Given the description of an element on the screen output the (x, y) to click on. 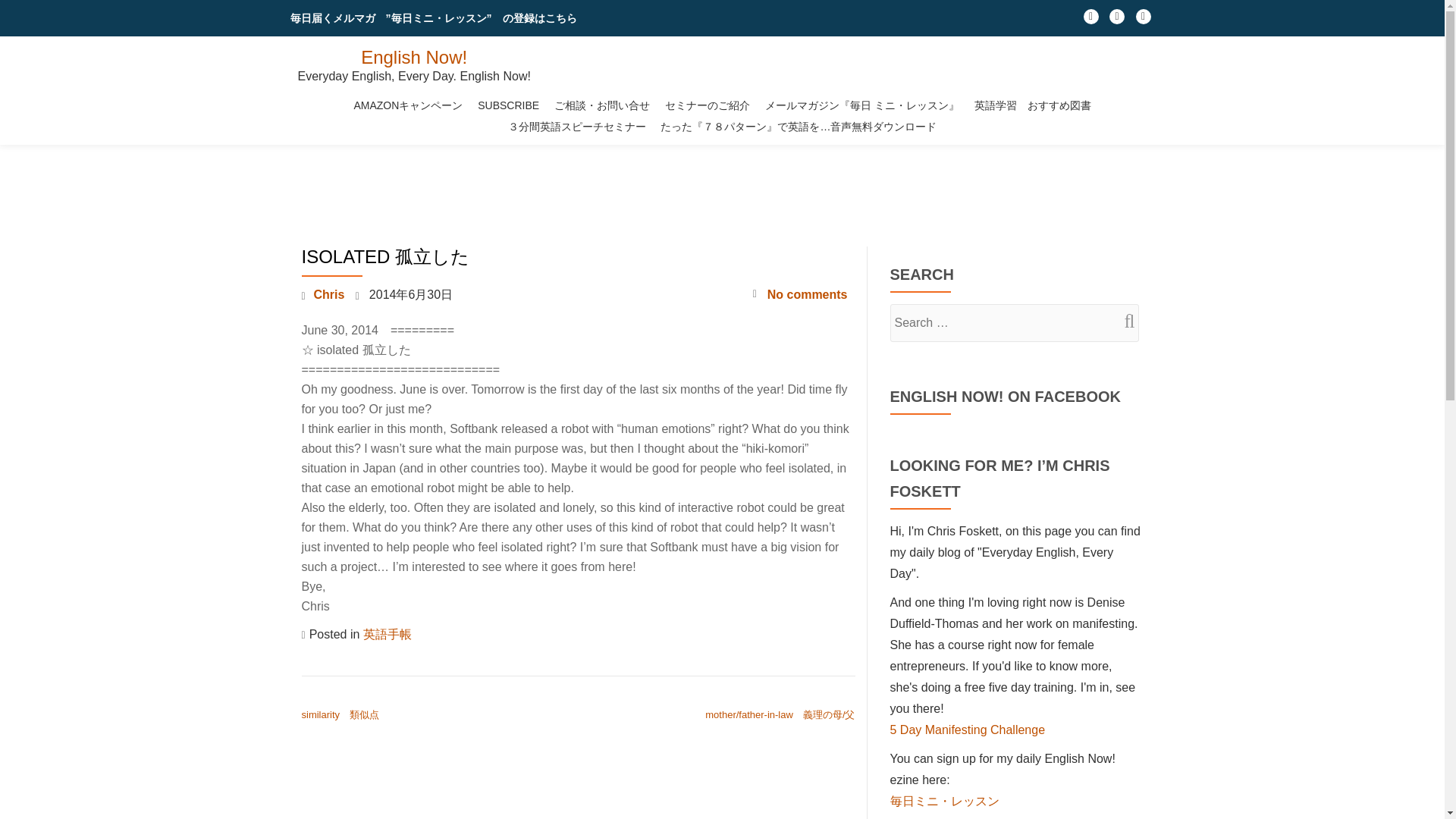
fa-instagram (1116, 19)
English Now! (414, 56)
Search (1122, 320)
fa-facebook (1091, 19)
fa-amazon (1143, 19)
5 Day Manifesting Challenge (967, 729)
No comments (799, 294)
SUBSCRIBE (507, 105)
Search (1122, 320)
English Now! (414, 56)
Search (1122, 320)
Chris (329, 294)
